Given the description of an element on the screen output the (x, y) to click on. 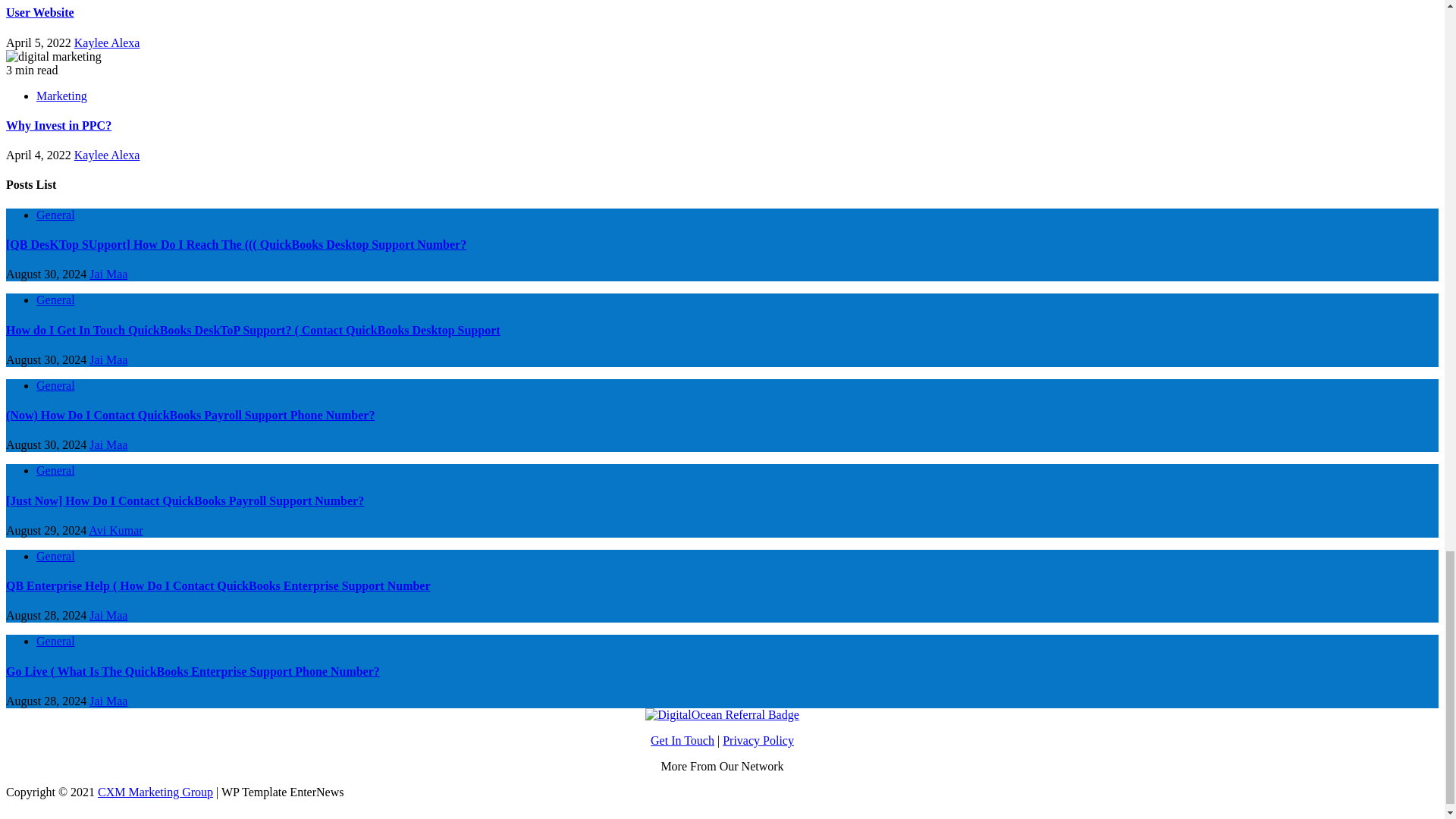
Kaylee Alexa (106, 154)
User Website (39, 11)
Marketing (61, 95)
Why Invest in PPC? (58, 124)
Kaylee Alexa (106, 42)
